Given the description of an element on the screen output the (x, y) to click on. 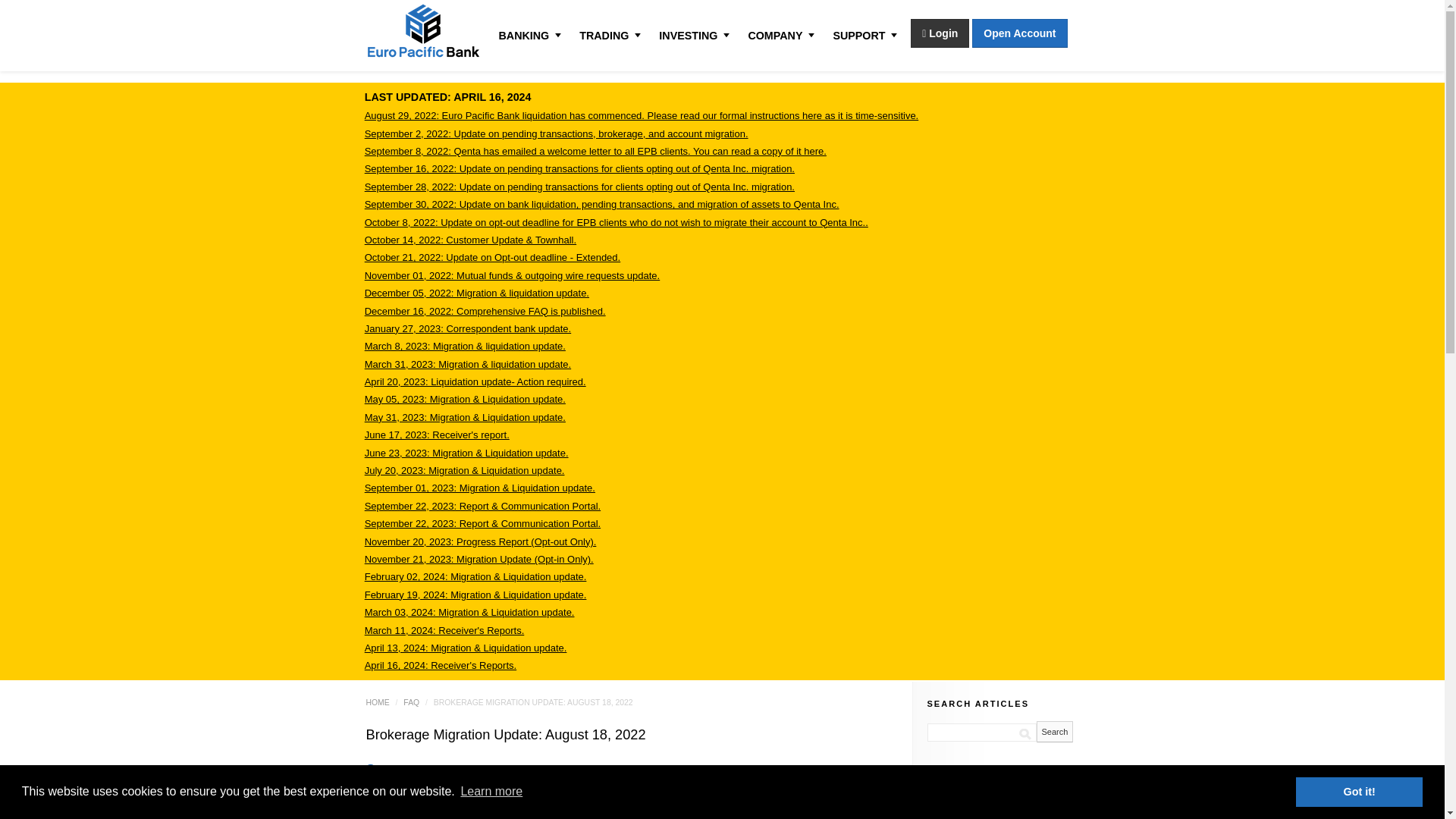
Got it! (1358, 791)
April 16, 2024: Receiver's Reports. (440, 665)
January 27, 2023: Correspondent bank update. (467, 328)
October 21, 2022: Update on Opt-out deadline - Extended. (493, 256)
December 16, 2022: Comprehensive FAQ is published. (485, 310)
Learn more (491, 791)
Search (1054, 731)
April 20, 2023: Liquidation update- Action required. (475, 381)
June 17, 2023: Receiver's report. (437, 434)
BANKING (526, 35)
Search (1054, 731)
